Given the description of an element on the screen output the (x, y) to click on. 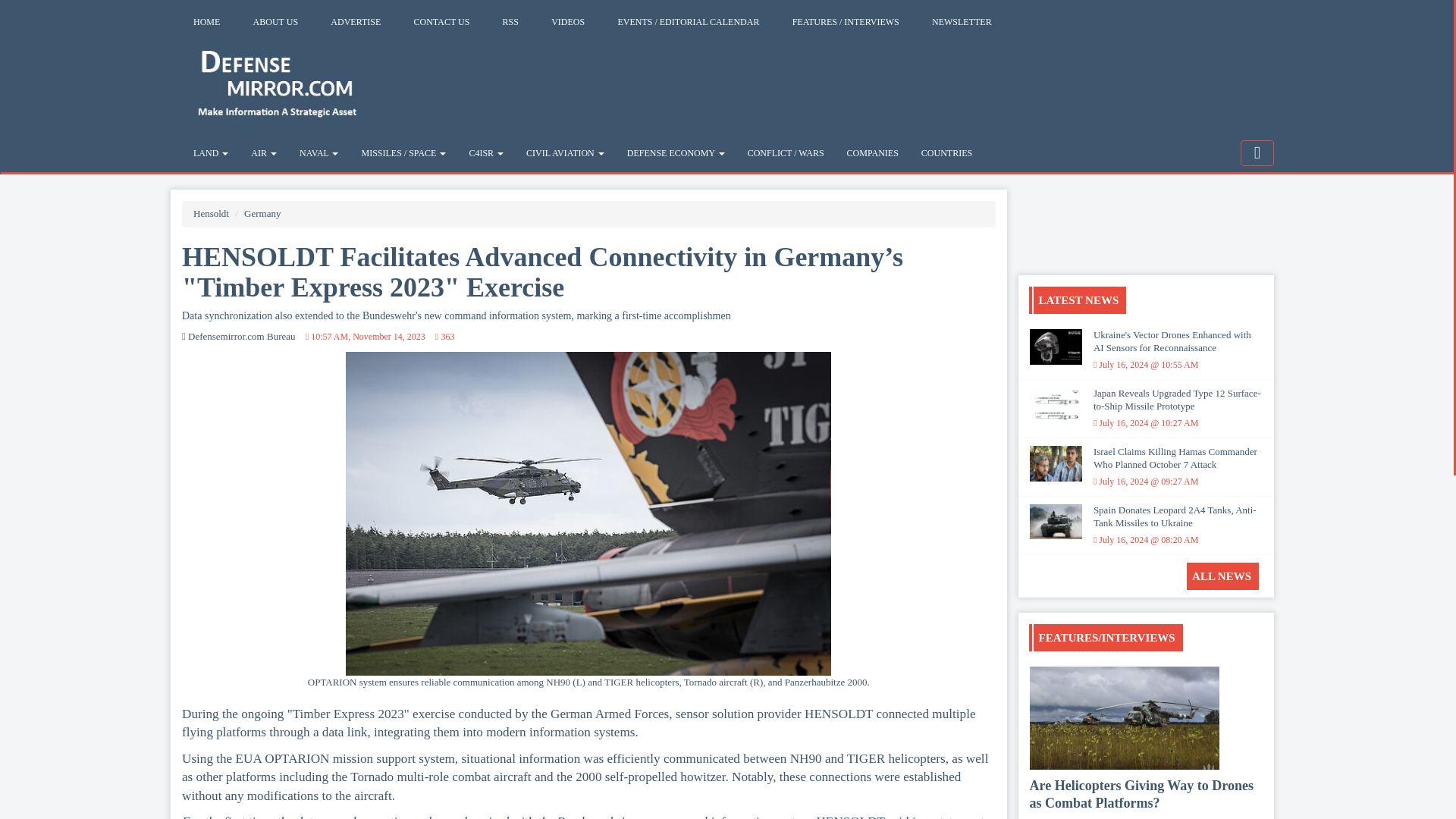
NEWSLETTER (961, 21)
ADVERTISE (354, 21)
LAND (211, 152)
3rd party ad content (1145, 209)
CONTACT US (442, 21)
RSS (510, 21)
VIDEOS (567, 21)
HOME (206, 21)
DefenceMirror (276, 80)
ABOUT US (274, 21)
AIR (264, 152)
NAVAL (318, 152)
